Given the description of an element on the screen output the (x, y) to click on. 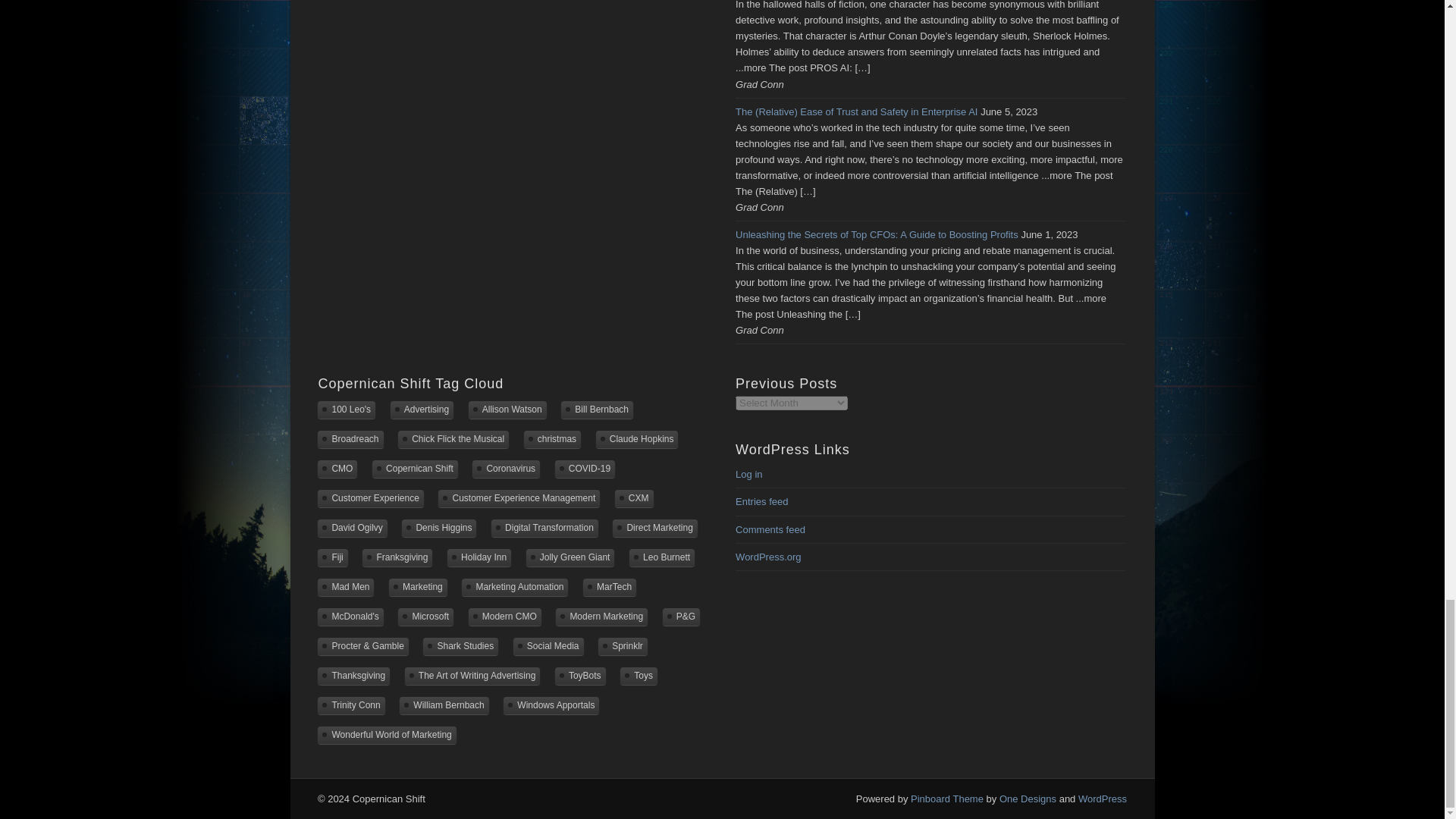
One Designs (1027, 798)
Pinboard Theme (947, 798)
WordPress (1102, 798)
